Given the description of an element on the screen output the (x, y) to click on. 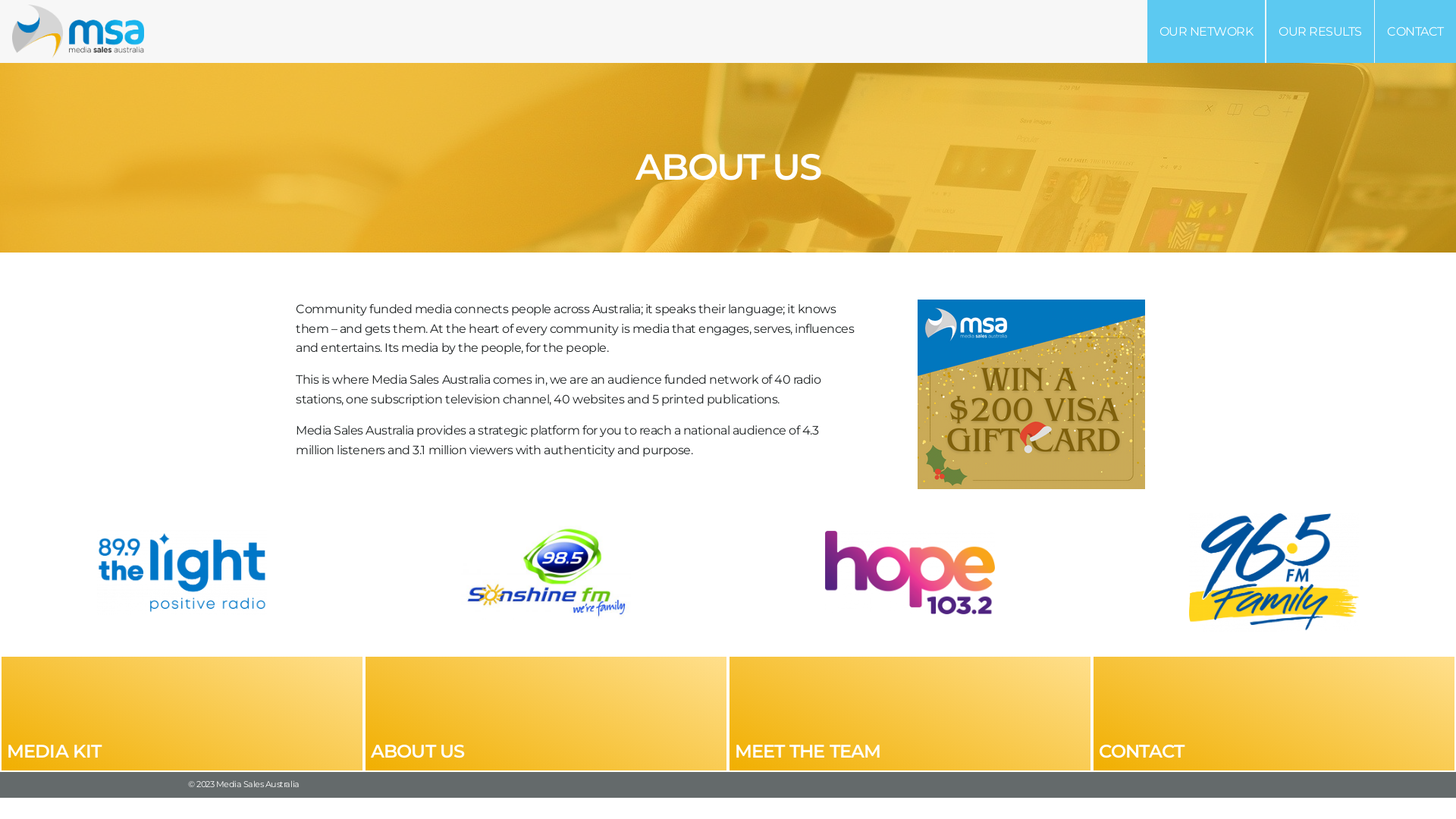
MEDIA KIT Element type: text (182, 713)
3rd party ad content Element type: hover (1031, 394)
OUR NETWORK Element type: text (1206, 31)
CONTACT Element type: text (1274, 713)
OUR RESULTS Element type: text (1320, 31)
ABOUT US Element type: text (546, 713)
MEET THE TEAM Element type: text (910, 713)
